Given the description of an element on the screen output the (x, y) to click on. 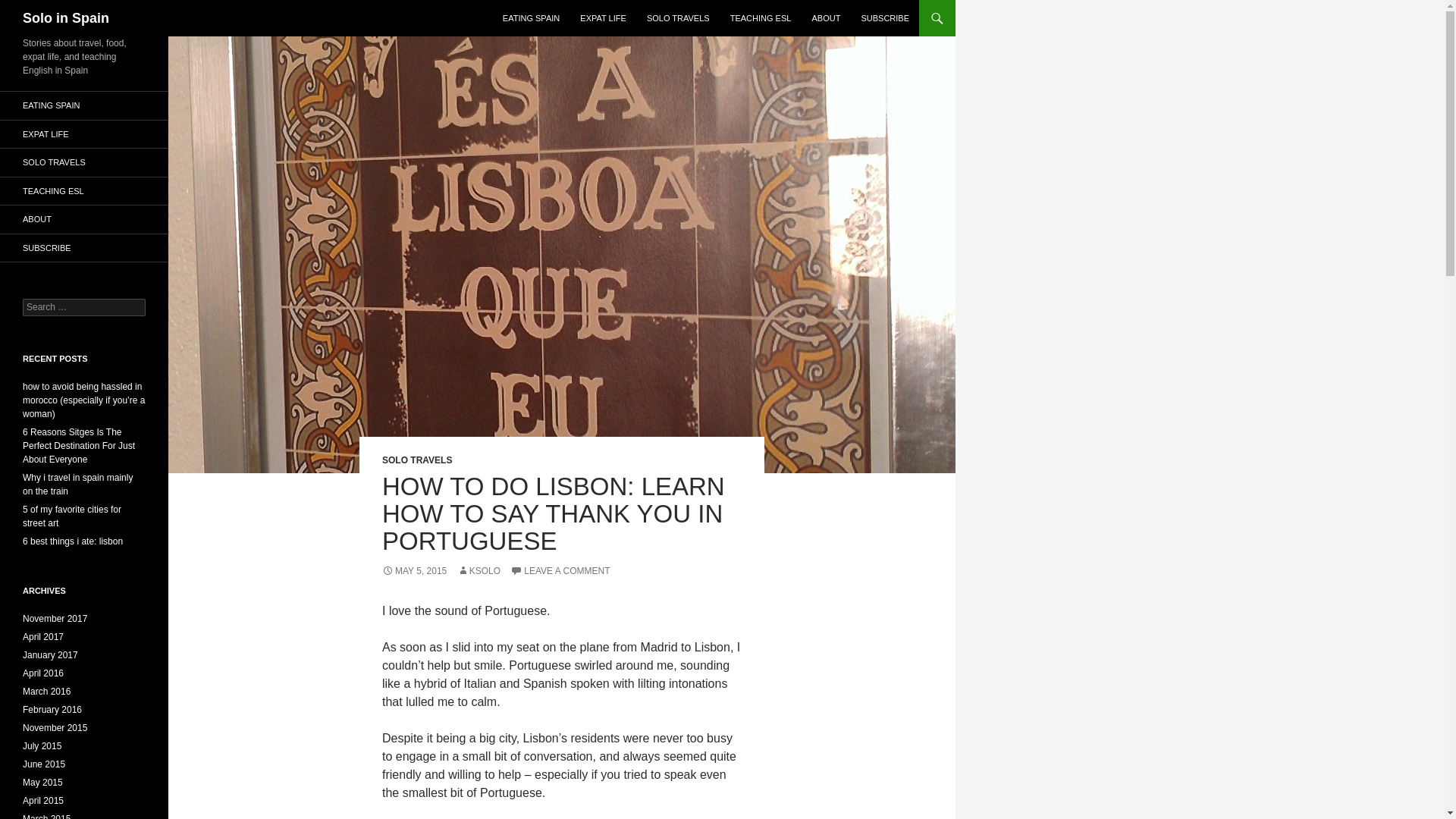
Solo in Spain (66, 18)
TEACHING ESL (760, 18)
TEACHING ESL (84, 191)
EATING SPAIN (84, 105)
ABOUT (84, 219)
EXPAT LIFE (84, 133)
SOLO TRAVELS (678, 18)
EXPAT LIFE (602, 18)
KSOLO (478, 570)
SOLO TRAVELS (416, 460)
